Given the description of an element on the screen output the (x, y) to click on. 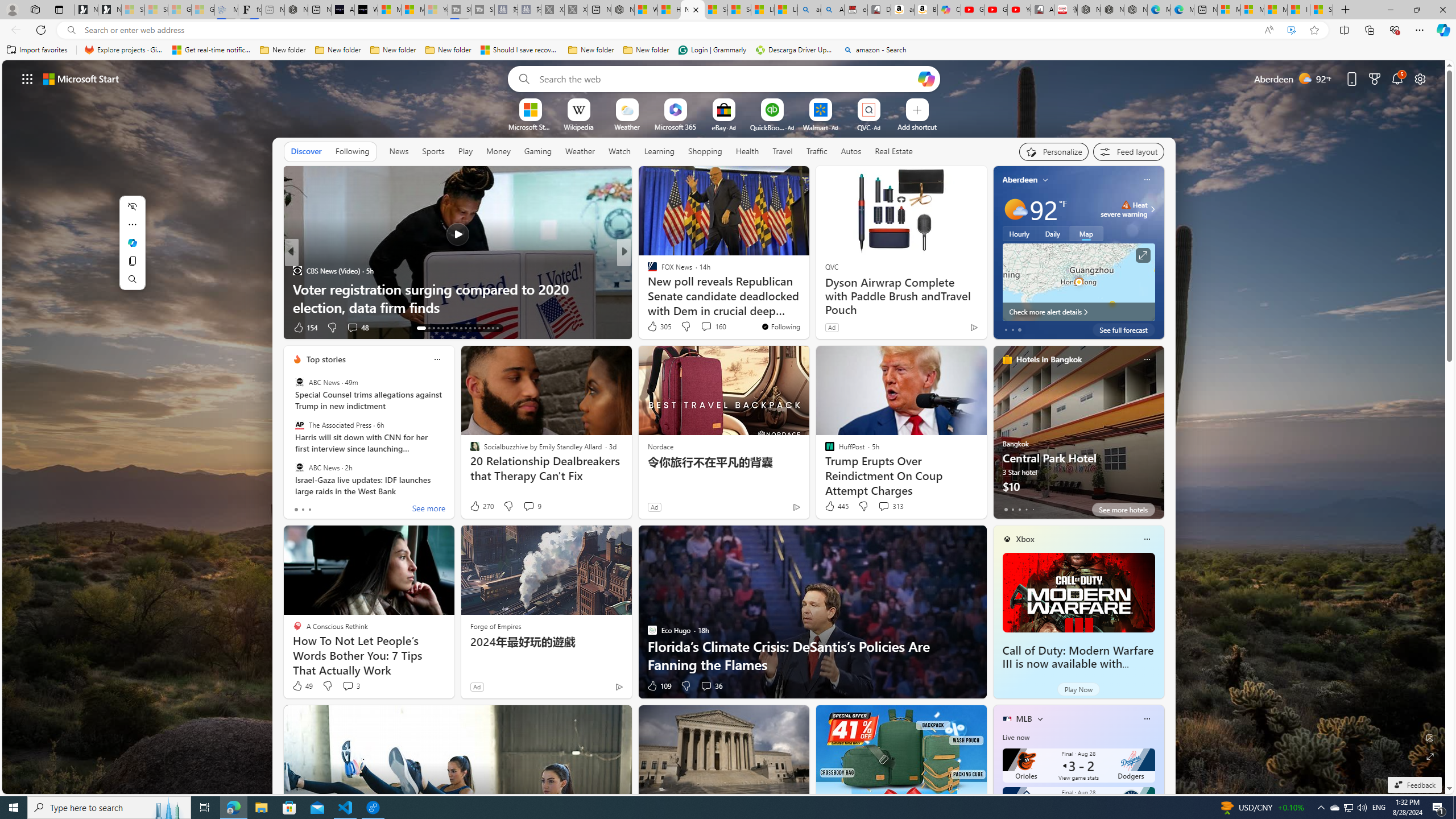
Gaming (537, 151)
Enhance video (1291, 29)
See full forecast (1123, 329)
104 Like (654, 327)
Gloom - YouTube (995, 9)
View comments 61 Comment (707, 327)
Split screen (1344, 29)
View comments 26 Comment (704, 327)
Notifications (1397, 78)
View comments 107 Comment (703, 327)
View comments 3 Comment (347, 685)
